Given the description of an element on the screen output the (x, y) to click on. 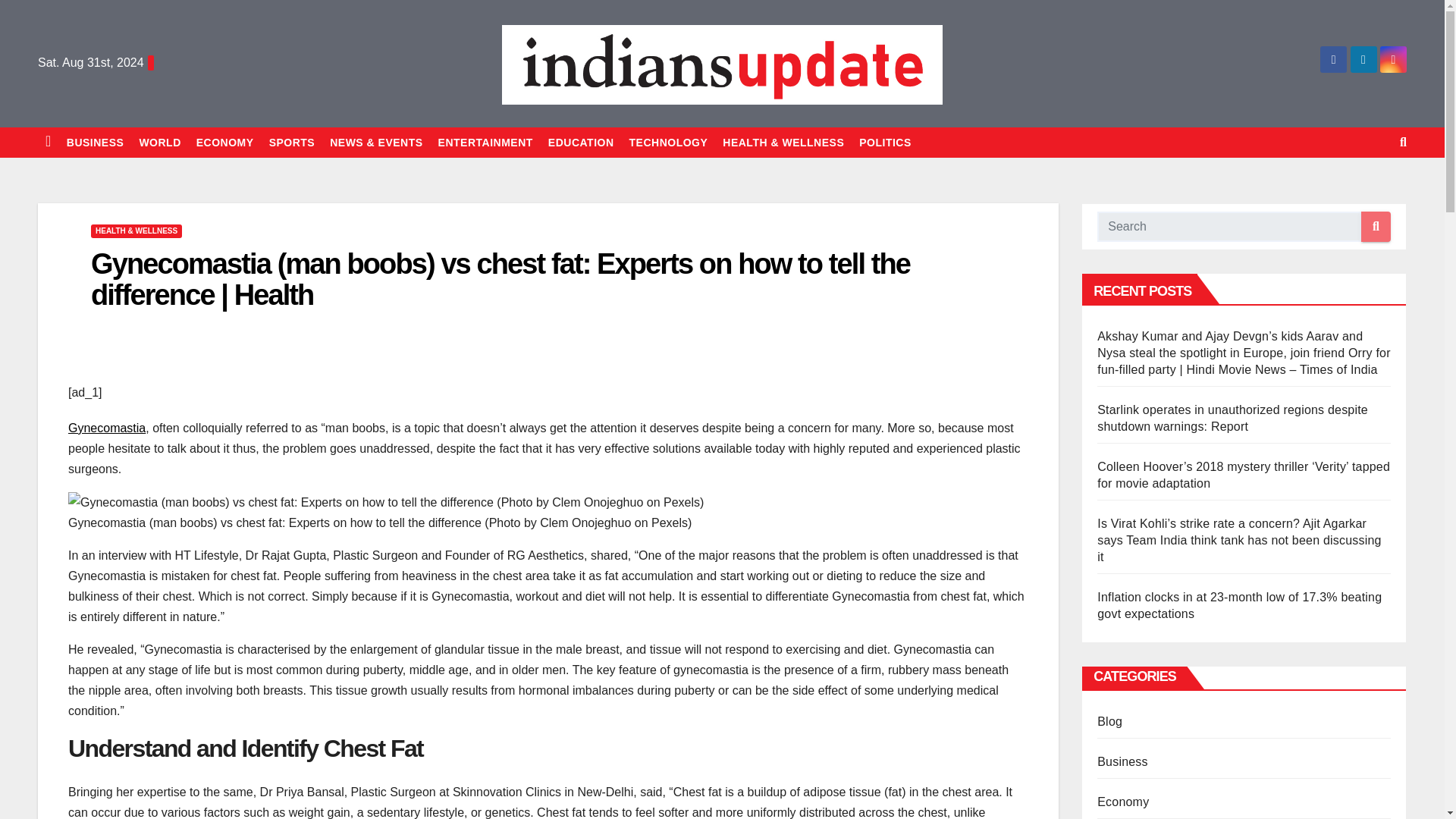
EDUCATION (580, 142)
Politics (884, 142)
Economy (225, 142)
ENTERTAINMENT (485, 142)
Business (95, 142)
BUSINESS (95, 142)
Education (580, 142)
Sports (292, 142)
SPORTS (292, 142)
ECONOMY (225, 142)
